Given the description of an element on the screen output the (x, y) to click on. 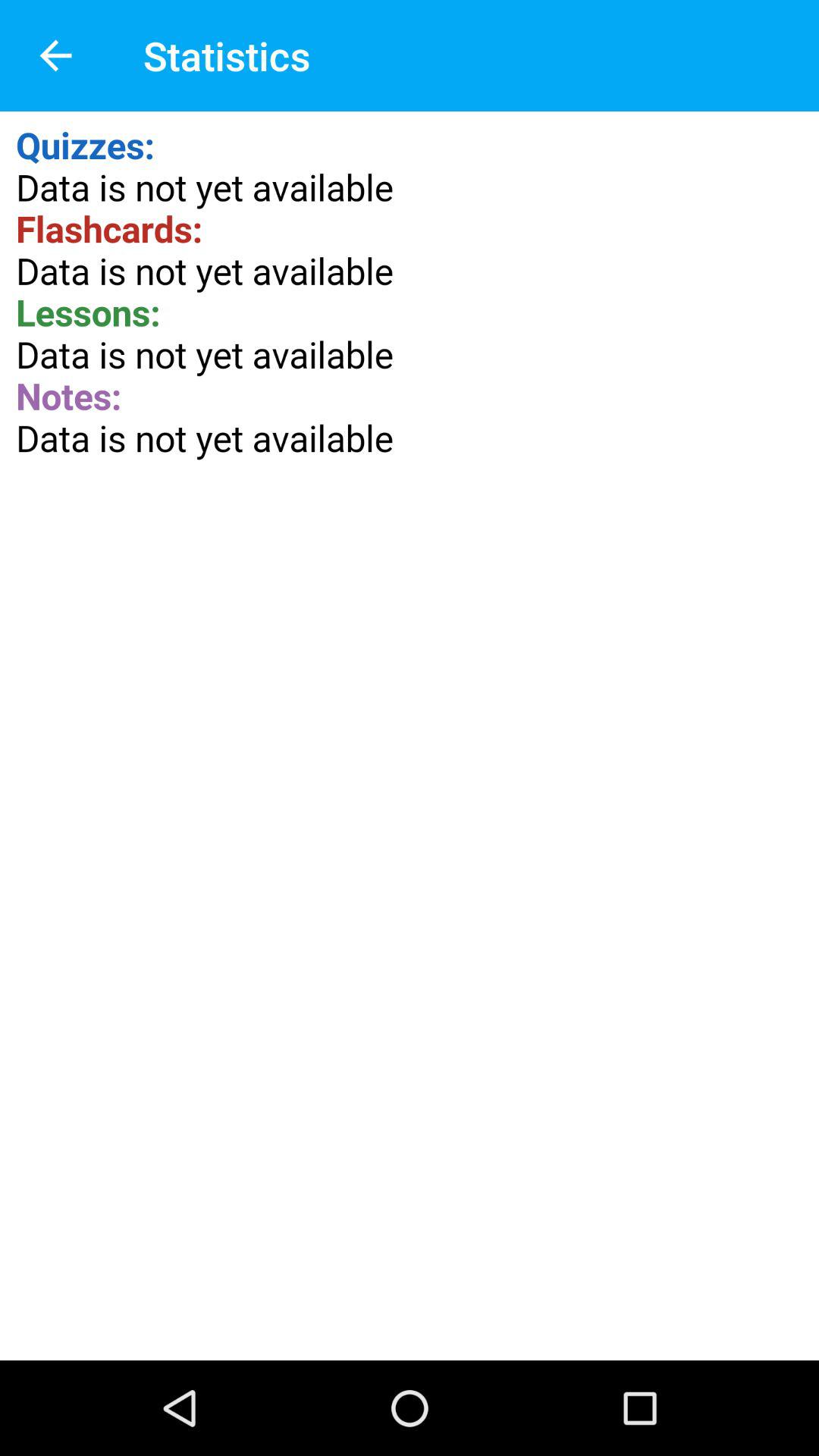
select the icon next to statistics icon (55, 55)
